Given the description of an element on the screen output the (x, y) to click on. 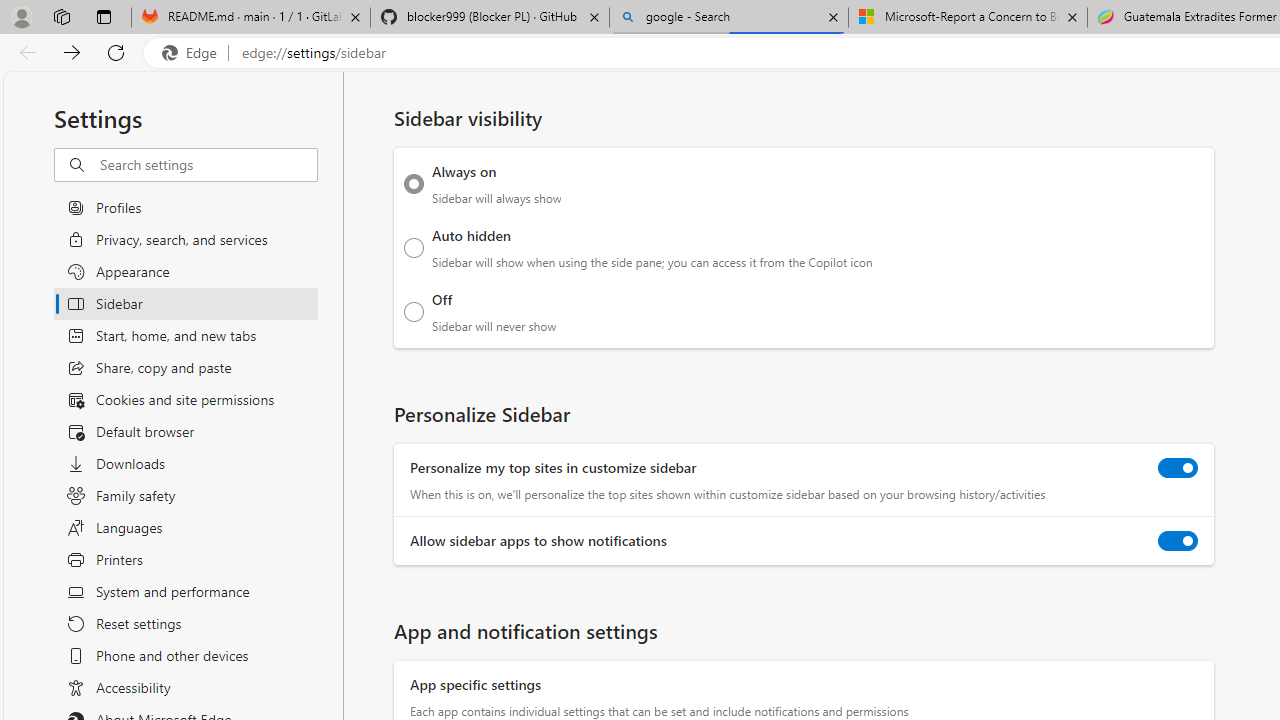
Off Sidebar will never show (413, 311)
Allow sidebar apps to show notifications (1178, 540)
Personalize my top sites in customize sidebar (1178, 467)
Always on Sidebar will always show (413, 183)
Search settings (207, 165)
Edge (194, 53)
